Given the description of an element on the screen output the (x, y) to click on. 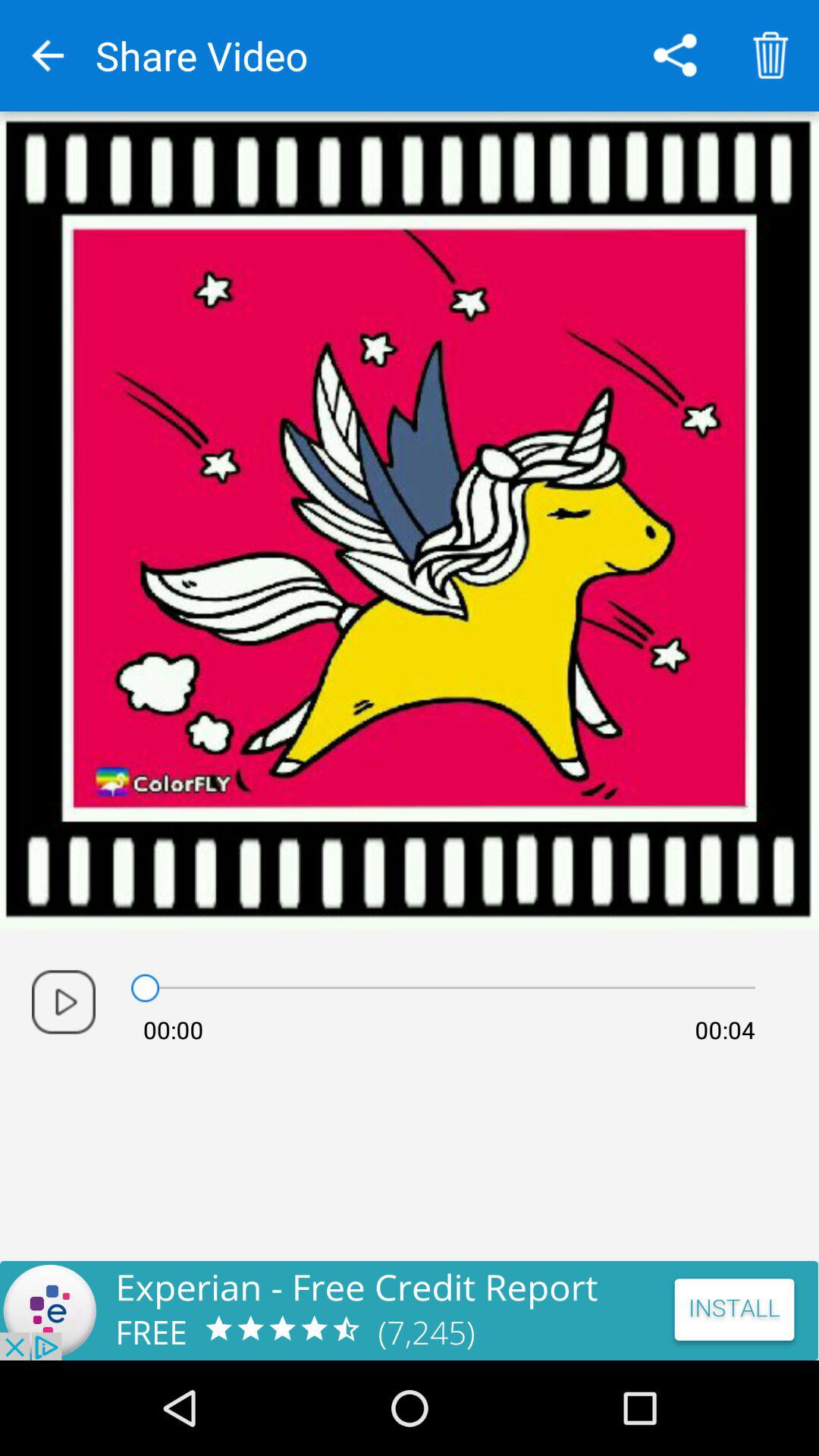
play video (63, 1001)
